Given the description of an element on the screen output the (x, y) to click on. 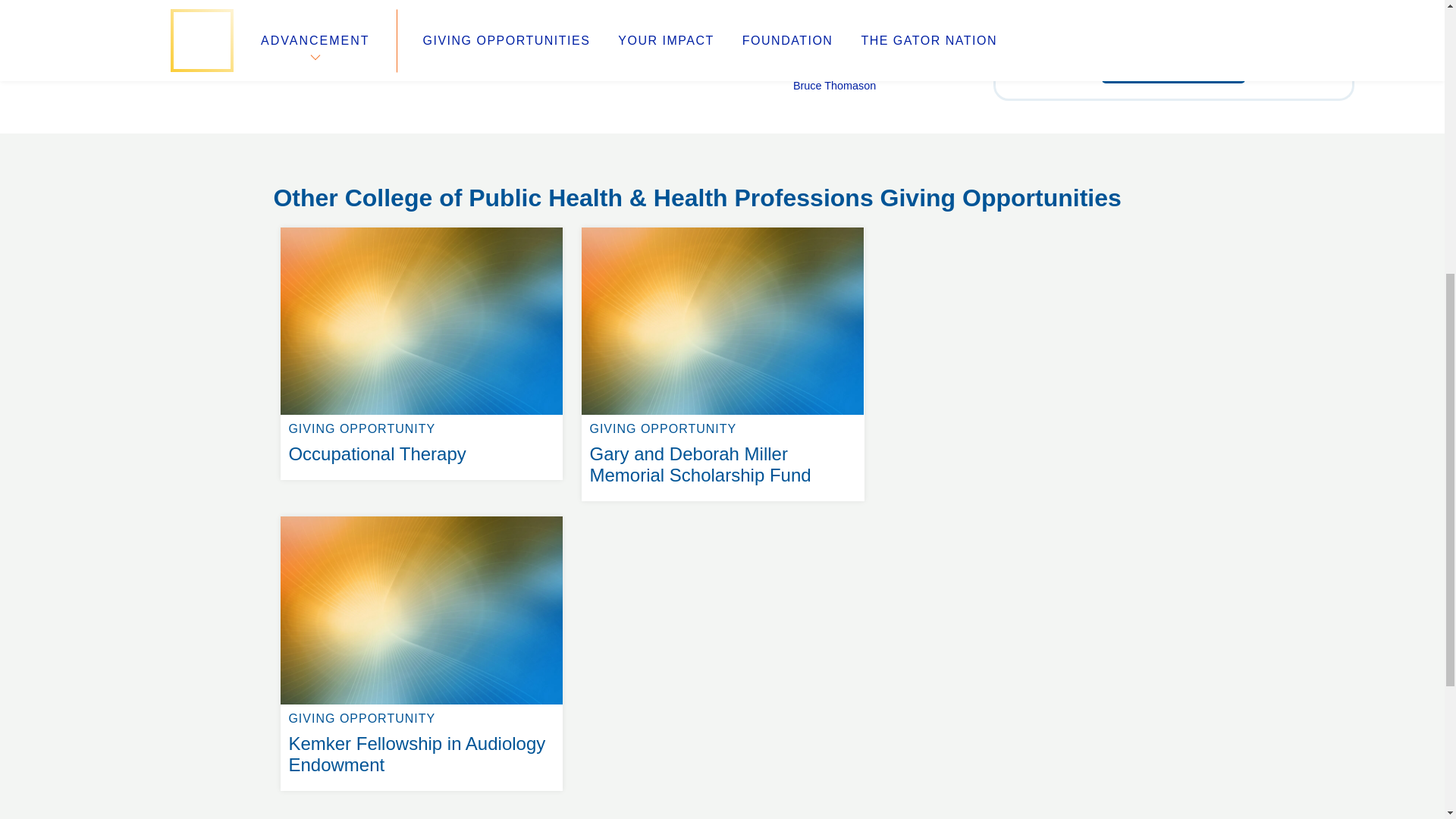
University of Florida (840, 145)
Advancement Toolkit (565, 164)
Foundation Board (327, 182)
Disclosures (537, 200)
Contact Us (306, 200)
Join Our Team (317, 145)
Advancement HUB (560, 145)
Privacy Policy (545, 182)
Staff Directory (316, 164)
Complete My Gift (421, 227)
